Given the description of an element on the screen output the (x, y) to click on. 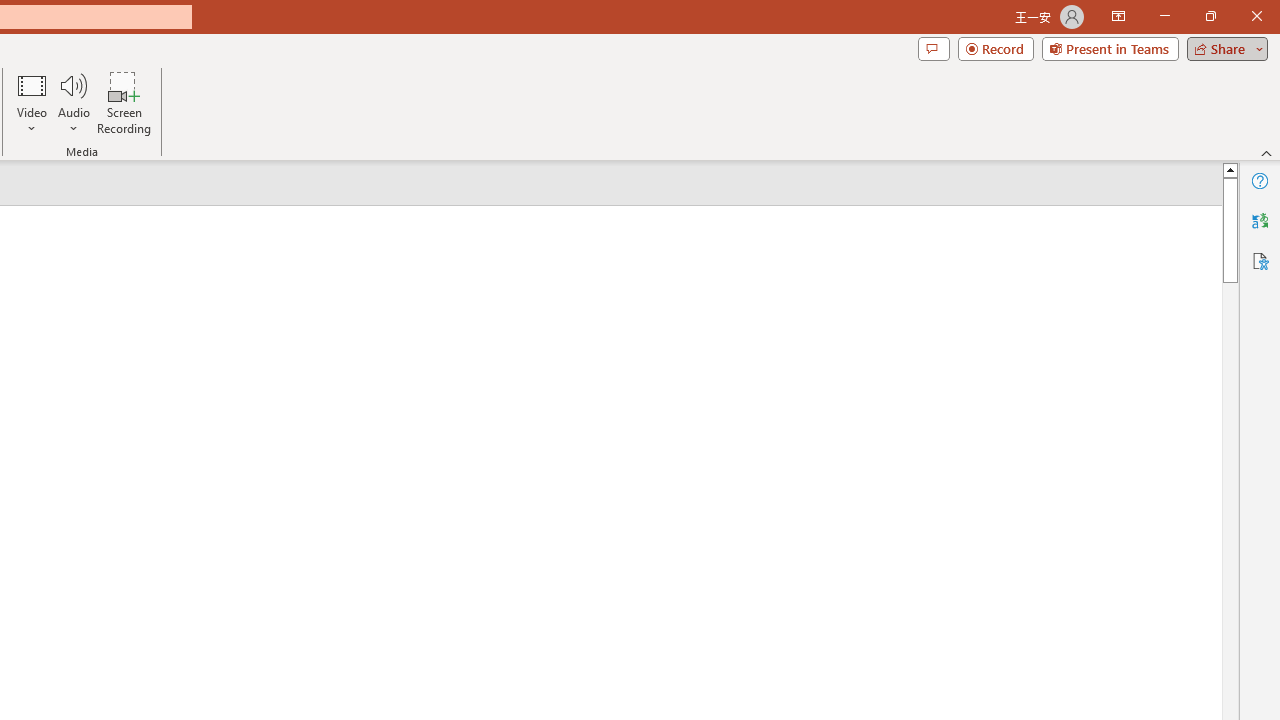
Screen Recording... (123, 102)
Video (31, 102)
